Given the description of an element on the screen output the (x, y) to click on. 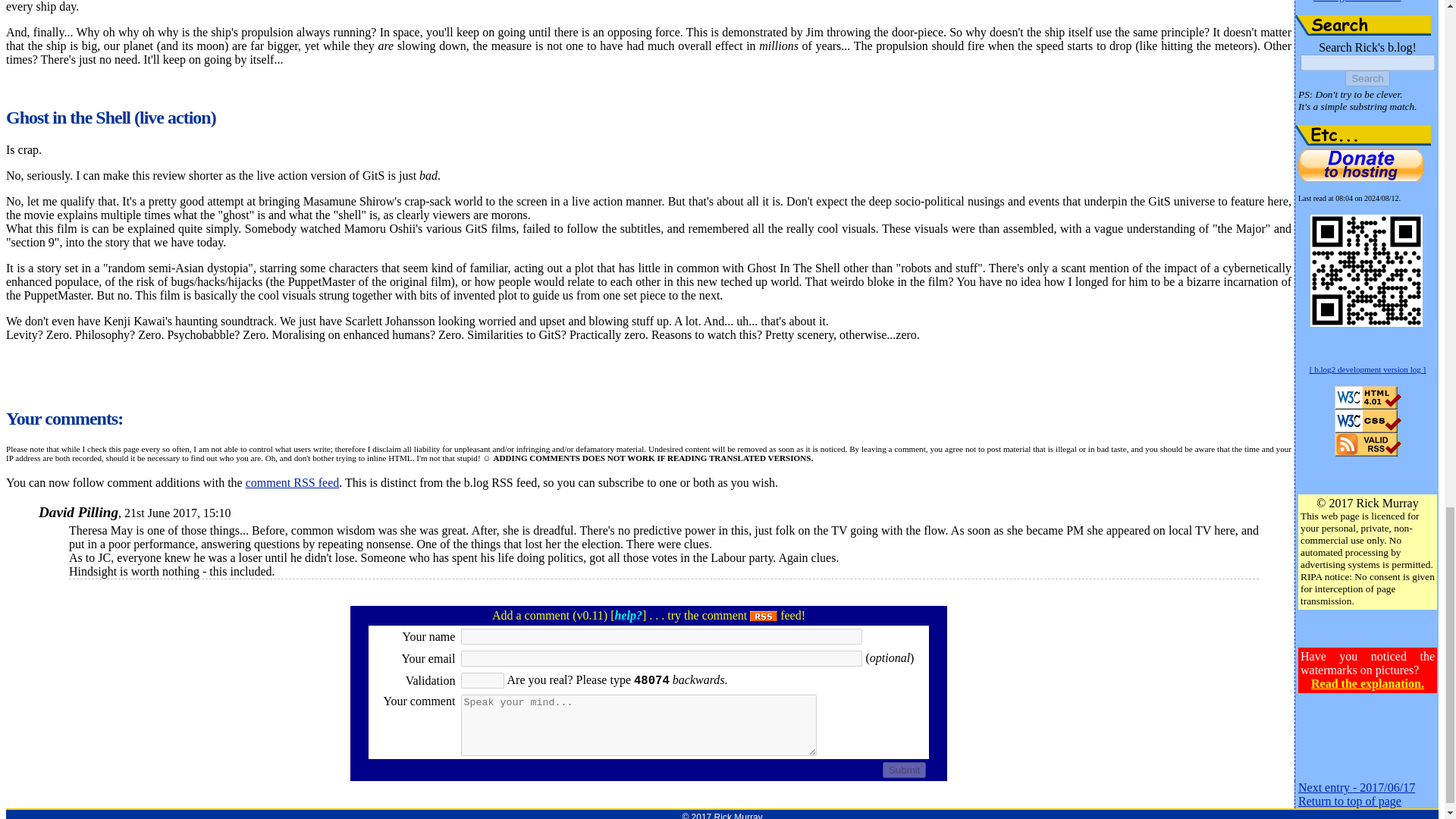
Search (1363, 25)
Submit (904, 770)
help? (628, 615)
Search (1367, 78)
Etc... (1363, 135)
comment RSS feed (292, 481)
Submit (904, 770)
